Given the description of an element on the screen output the (x, y) to click on. 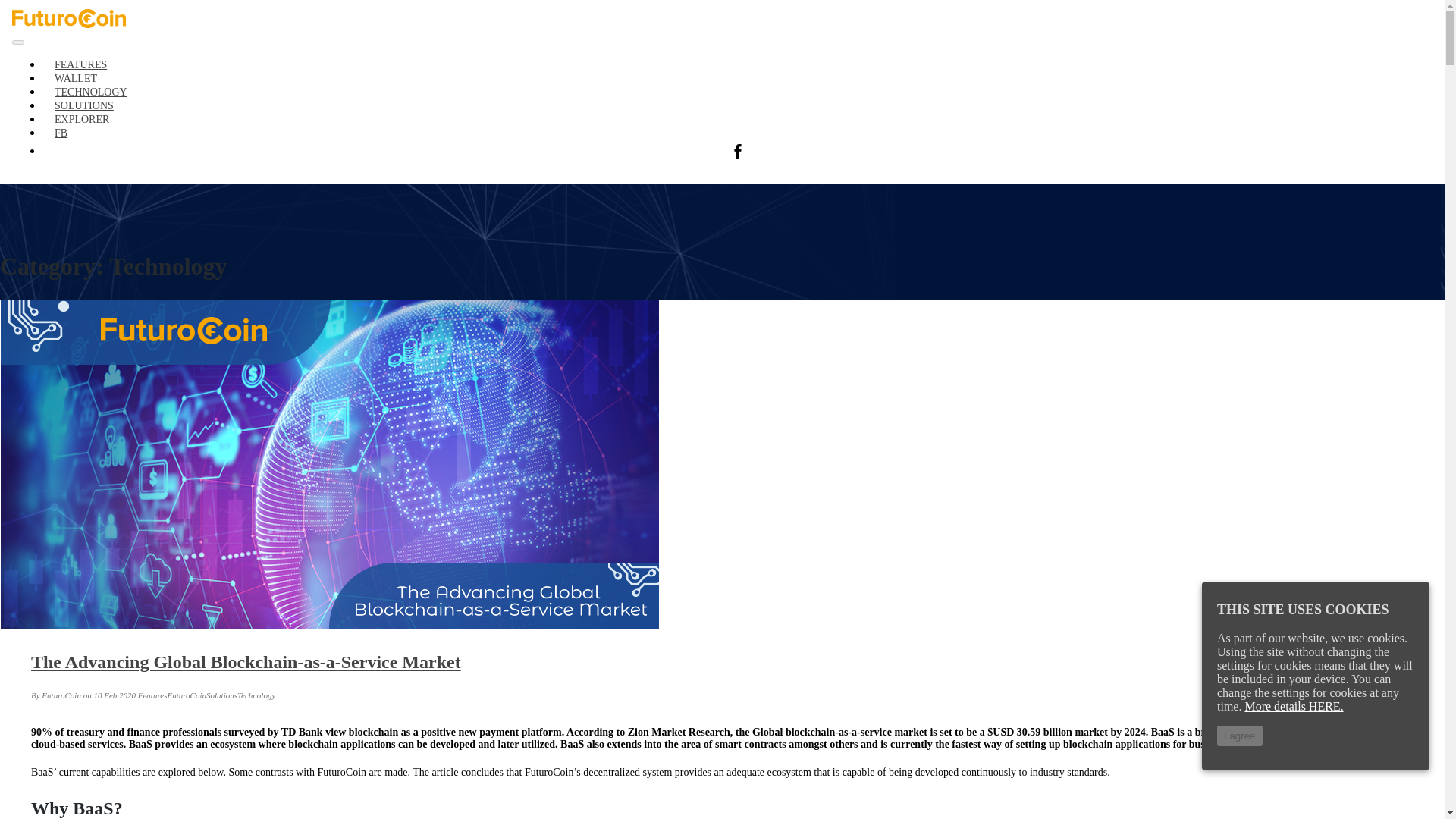
Explorer (81, 119)
Features (80, 64)
FB (61, 132)
SOLUTIONS (83, 105)
FEATURES (80, 64)
Solutions (83, 105)
COOKIE POLICY (737, 151)
Technology (90, 92)
WALLET (75, 78)
FB (61, 132)
Cookie Policy (737, 151)
The Advancing Global Blockchain-as-a-Service Market (245, 661)
Wallet (75, 78)
EXPLORER (81, 119)
TECHNOLOGY (90, 92)
